Given the description of an element on the screen output the (x, y) to click on. 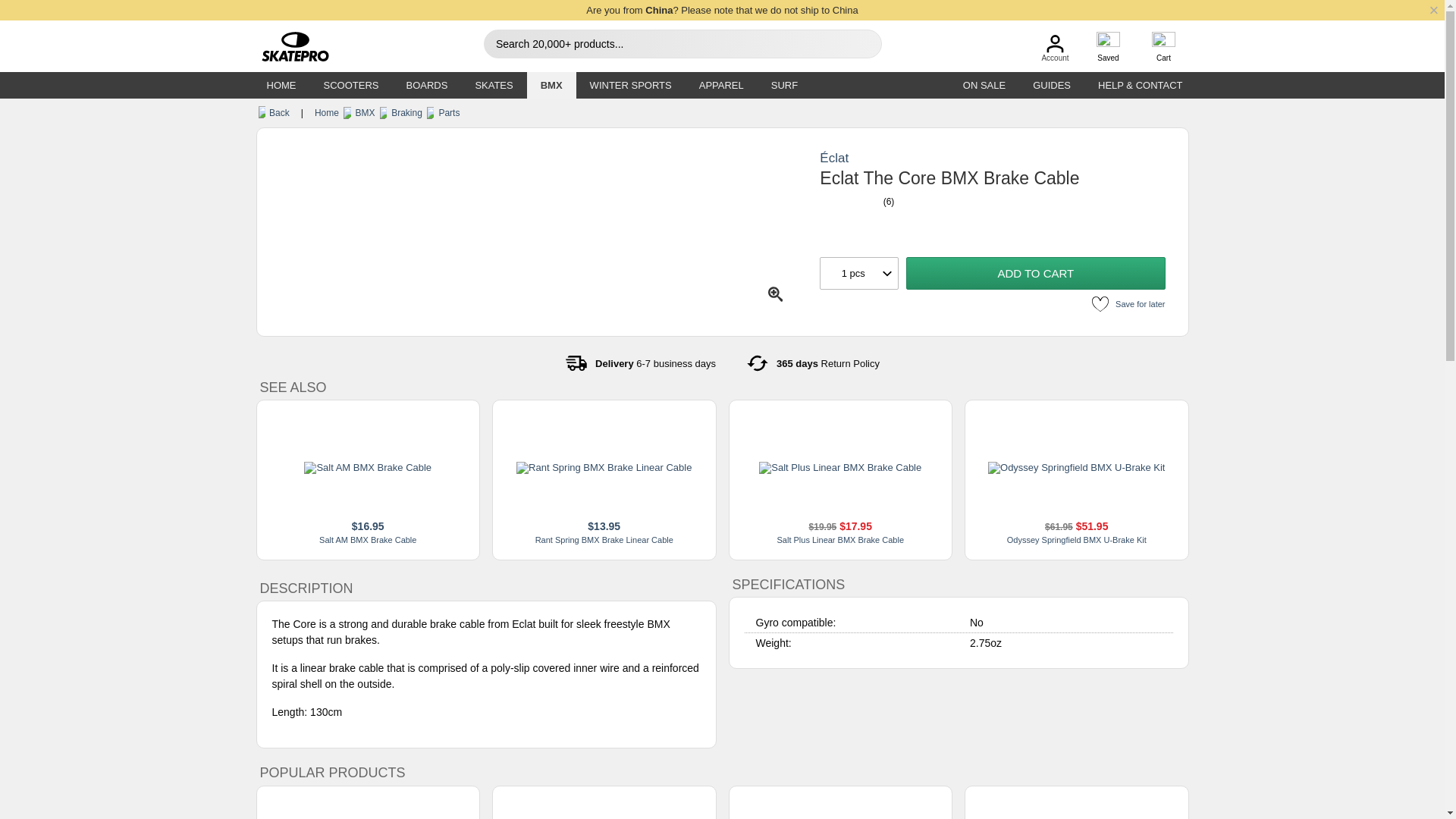
Skateboards, Longboards and Cruiser Skateboards (426, 85)
SkatePro (288, 46)
